Given the description of an element on the screen output the (x, y) to click on. 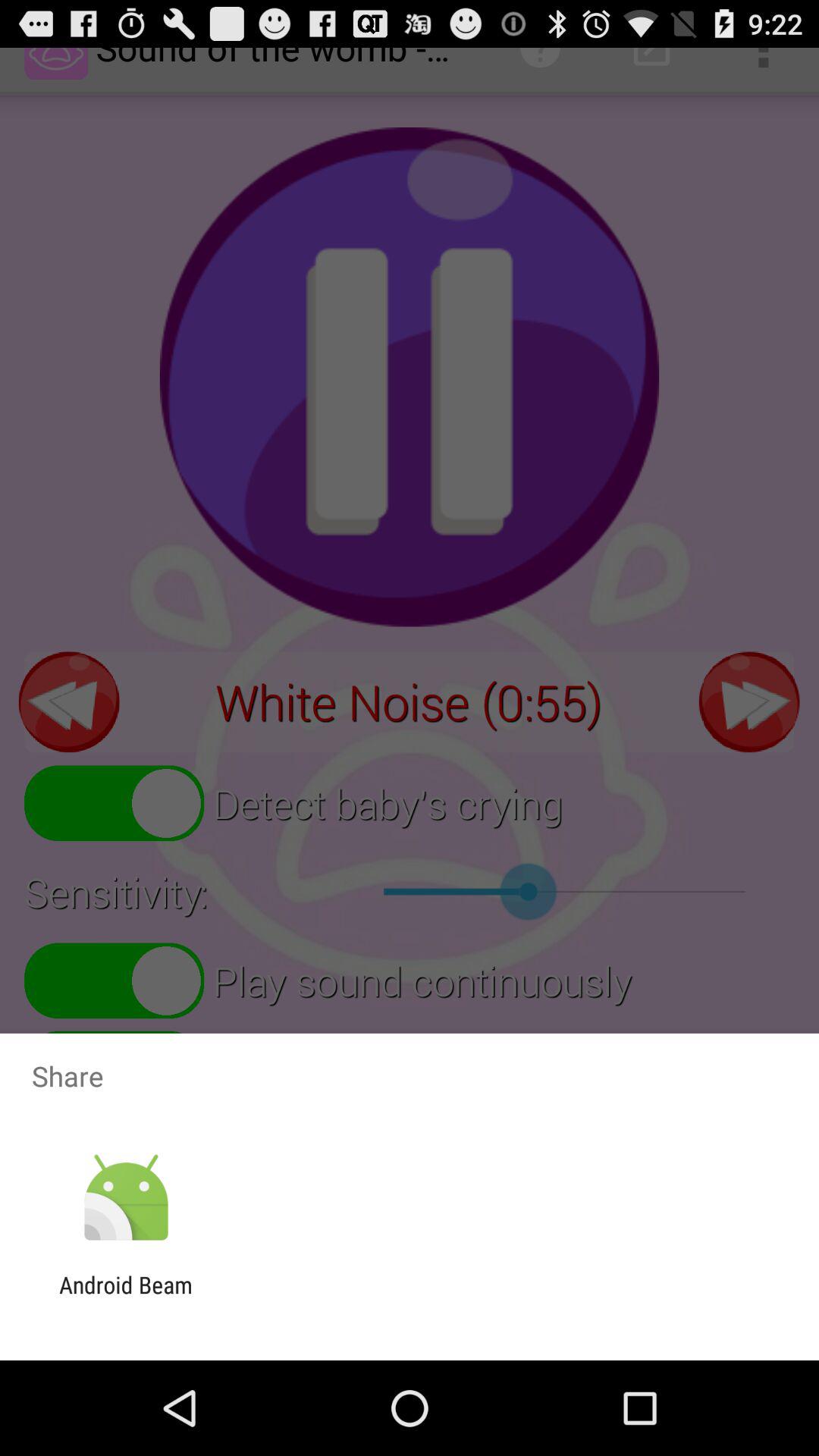
turn on app above the android beam (126, 1198)
